Given the description of an element on the screen output the (x, y) to click on. 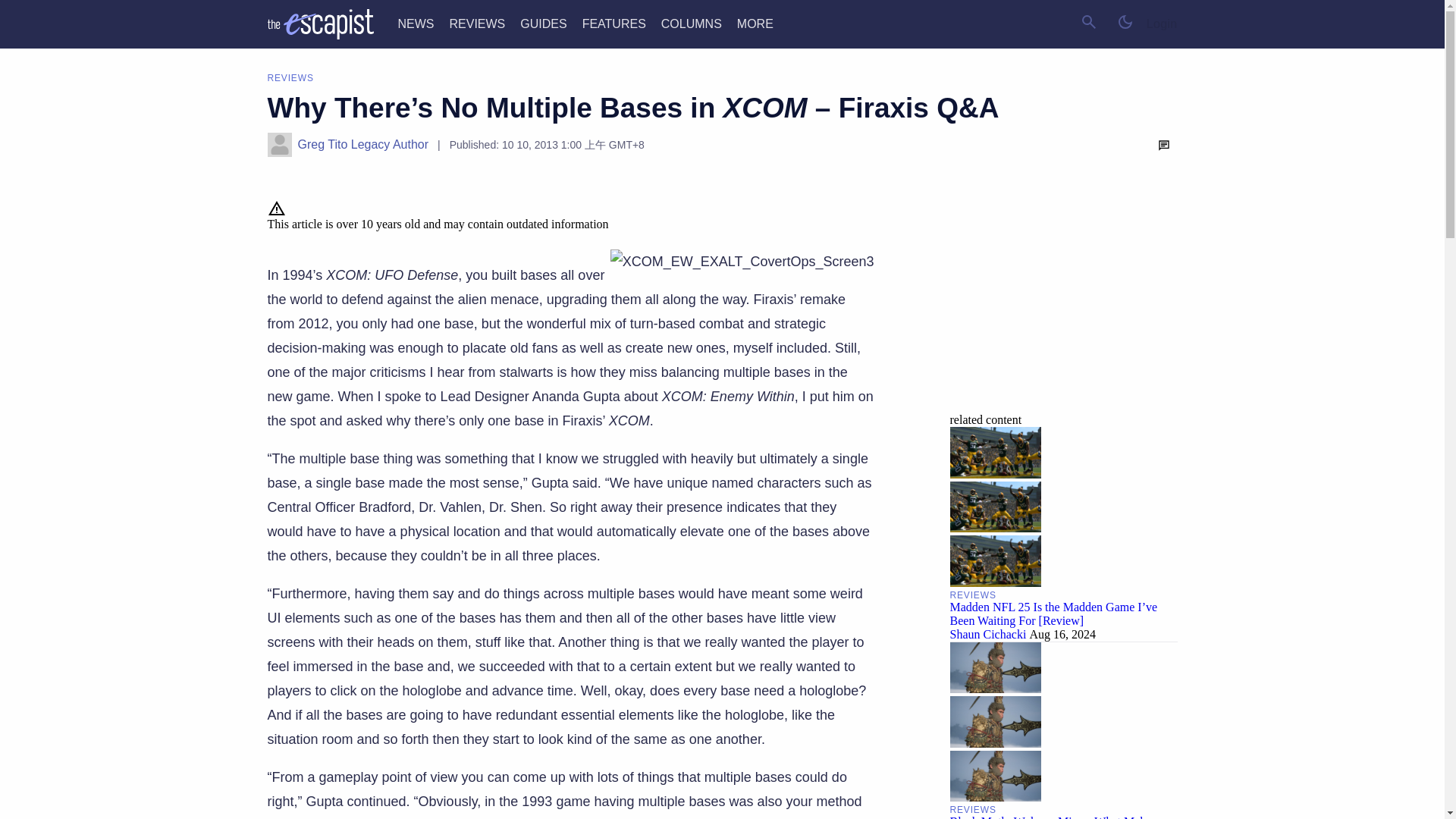
NEWS (415, 23)
Dark Mode (1124, 21)
FEATURES (614, 23)
Login (1162, 23)
REVIEWS (476, 23)
COLUMNS (691, 23)
GUIDES (542, 23)
Search (1088, 21)
